Given the description of an element on the screen output the (x, y) to click on. 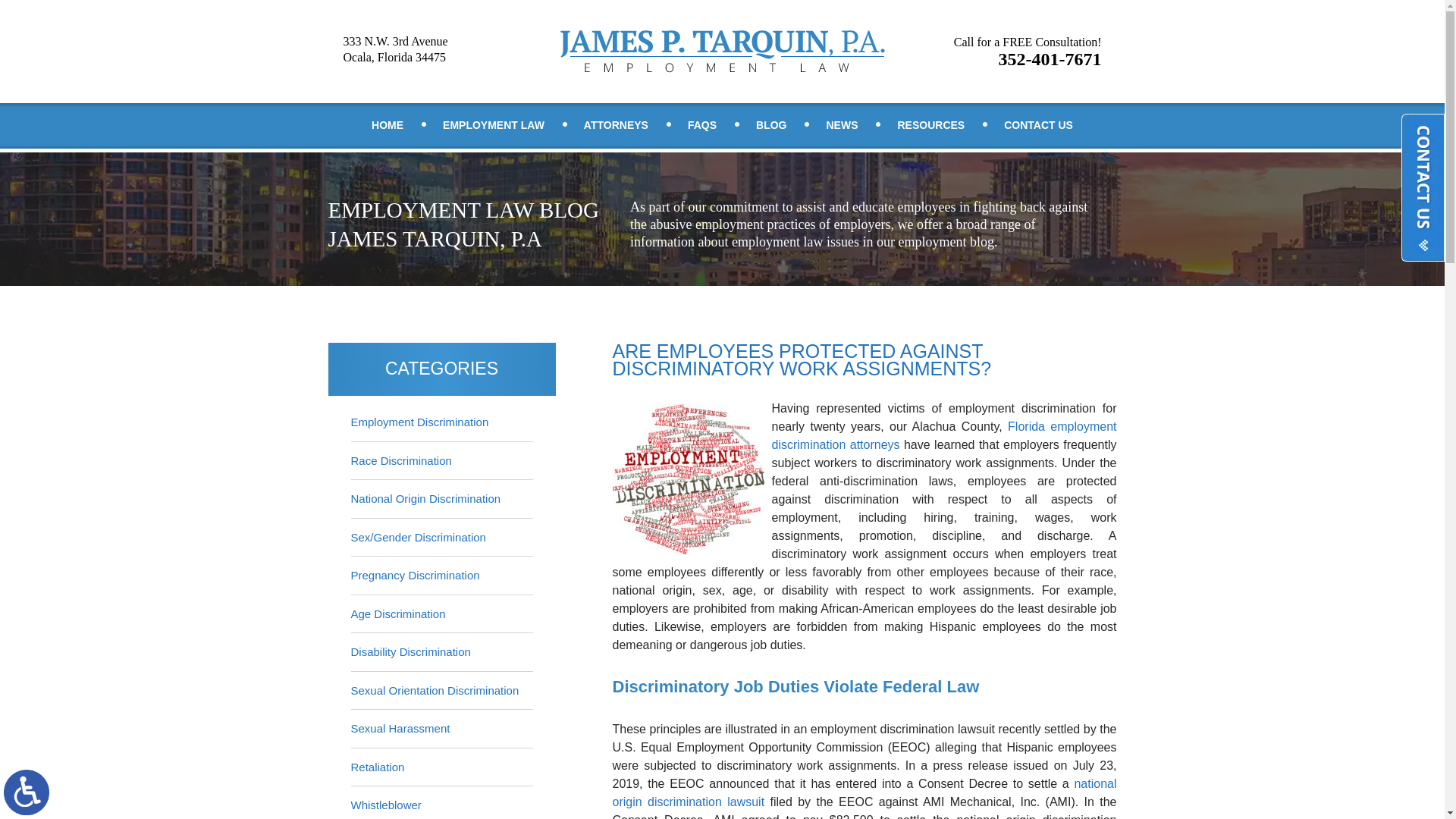
Florida employment discrimination attorneys (943, 435)
NEWS (841, 125)
HOME (387, 125)
ATTORNEYS (616, 125)
CONTACT US (1038, 125)
EMPLOYMENT LAW (493, 125)
RESOURCES (930, 125)
Word cloud for Employment discrimination (688, 479)
Switch to ADA Accessible Theme (1027, 52)
FAQS (26, 791)
BLOG (702, 125)
